Given the description of an element on the screen output the (x, y) to click on. 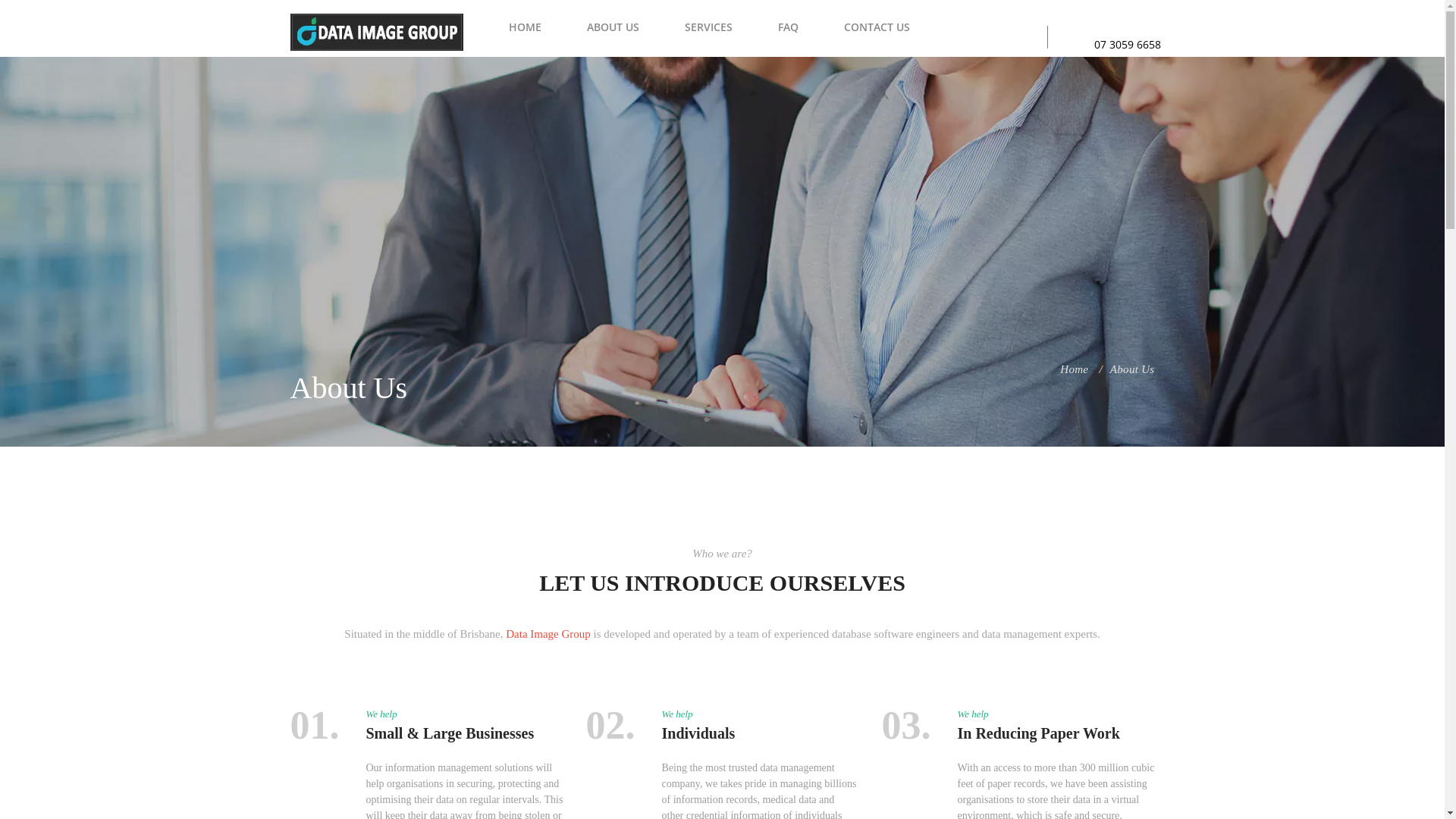
Data Image Group Element type: text (547, 633)
HOME Element type: text (523, 27)
CONTACT US Element type: text (876, 27)
07 3059 6658 Element type: text (1127, 43)
SERVICES Element type: text (707, 27)
FAQ Element type: text (787, 27)
Home Element type: text (1074, 369)
ABOUT US Element type: text (612, 27)
